Given the description of an element on the screen output the (x, y) to click on. 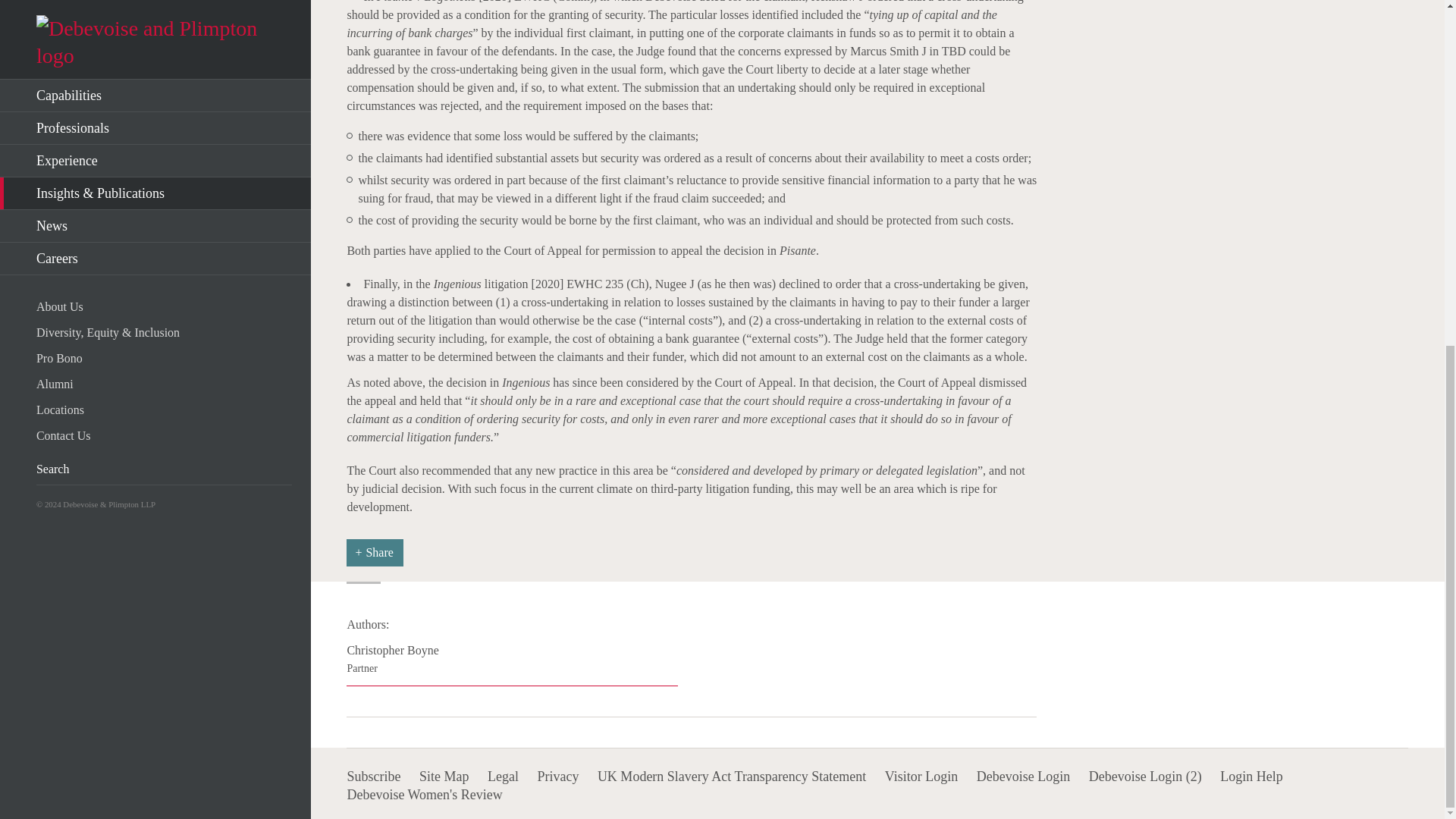
Privacy (557, 776)
Debevoise Women's Review (424, 794)
Debevoise Login (1023, 776)
Legal (502, 776)
Site Map (443, 776)
Subscribe (373, 776)
UK Modern Slavery Act Transparency Statement (512, 663)
Visitor Login (731, 776)
Share (921, 776)
